Given the description of an element on the screen output the (x, y) to click on. 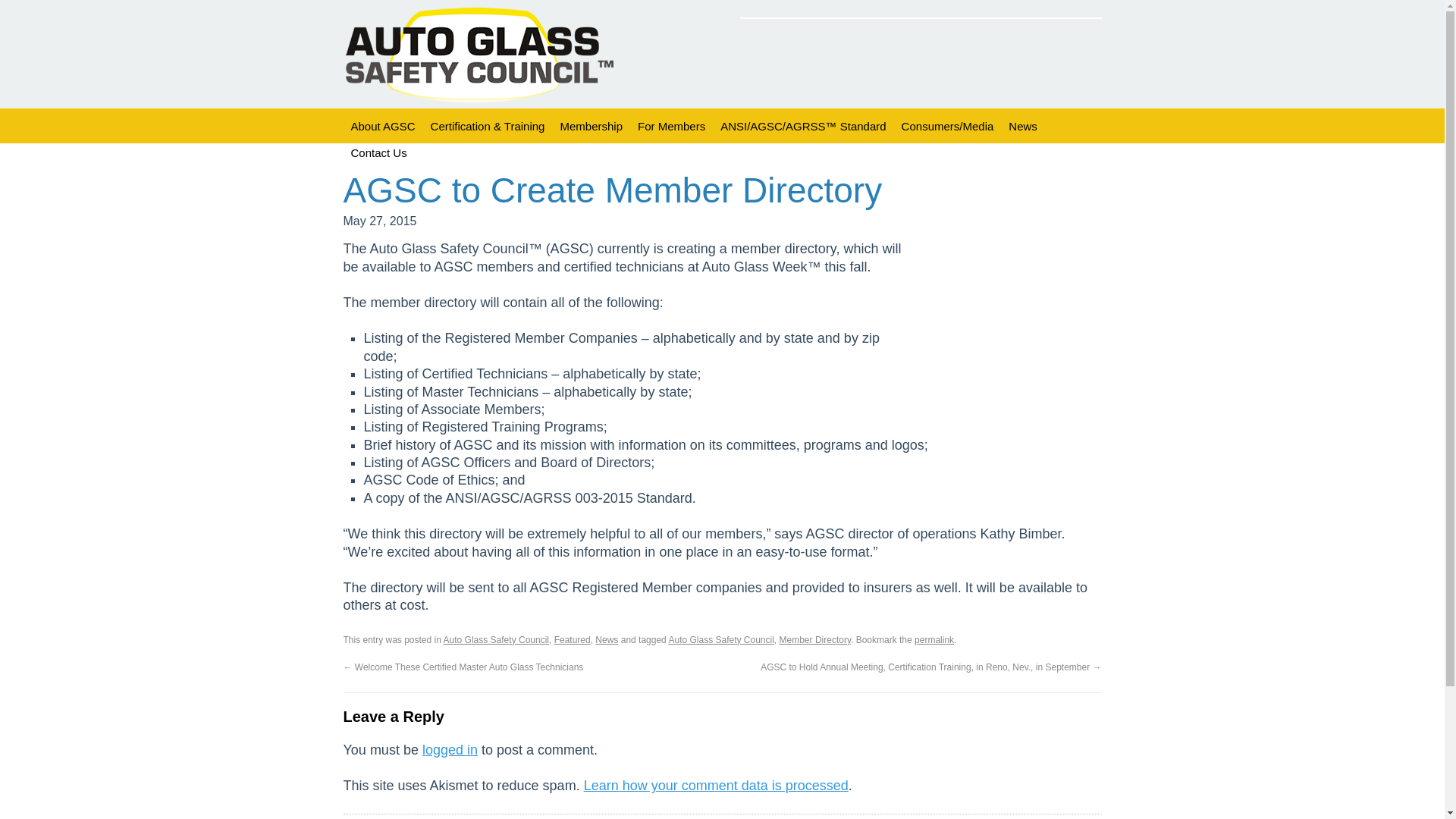
Membership (590, 126)
Permalink to AGSC to Create Member Directory (933, 639)
For Members (671, 126)
About AGSC (382, 126)
